Given the description of an element on the screen output the (x, y) to click on. 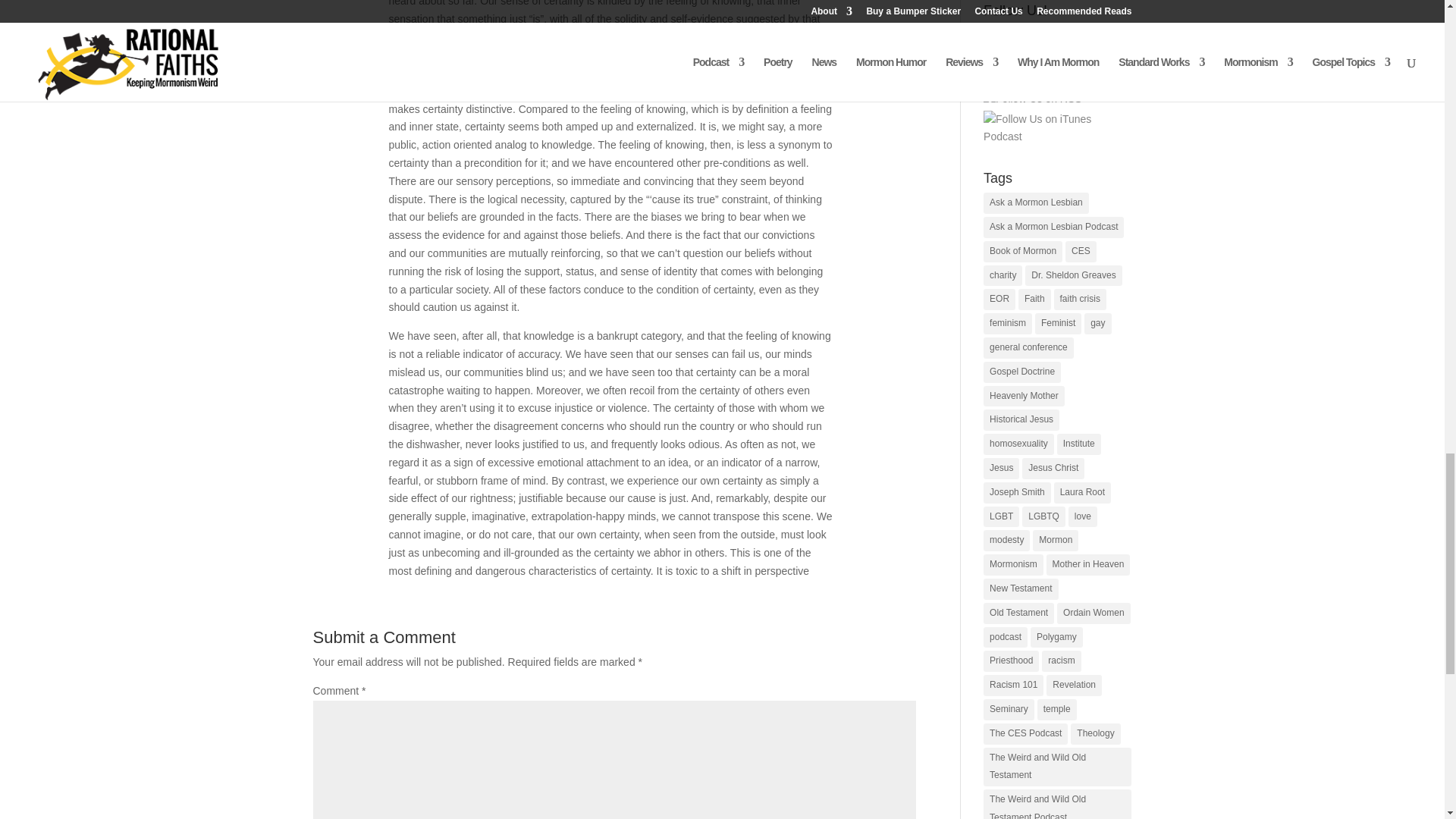
Follow Us on Twitter (1037, 78)
Follow Us on RSS (1032, 99)
Follow Us on Facebook (1045, 37)
